Given the description of an element on the screen output the (x, y) to click on. 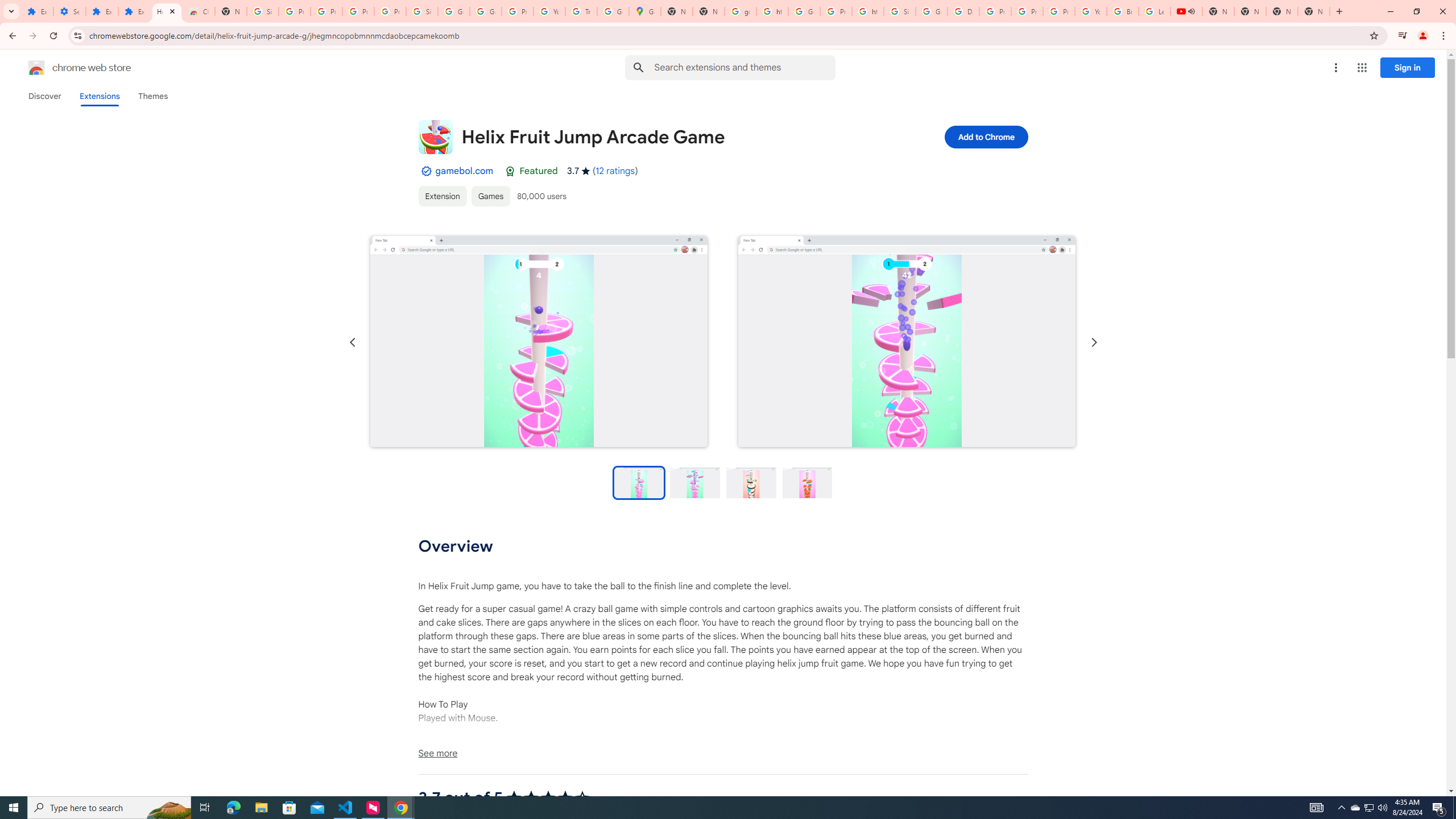
Featured Badge (510, 170)
Previous slide (352, 342)
Next slide (1093, 342)
Preview slide 1 (637, 482)
Sign in - Google Accounts (899, 11)
Item media 1 screenshot (538, 341)
